Given the description of an element on the screen output the (x, y) to click on. 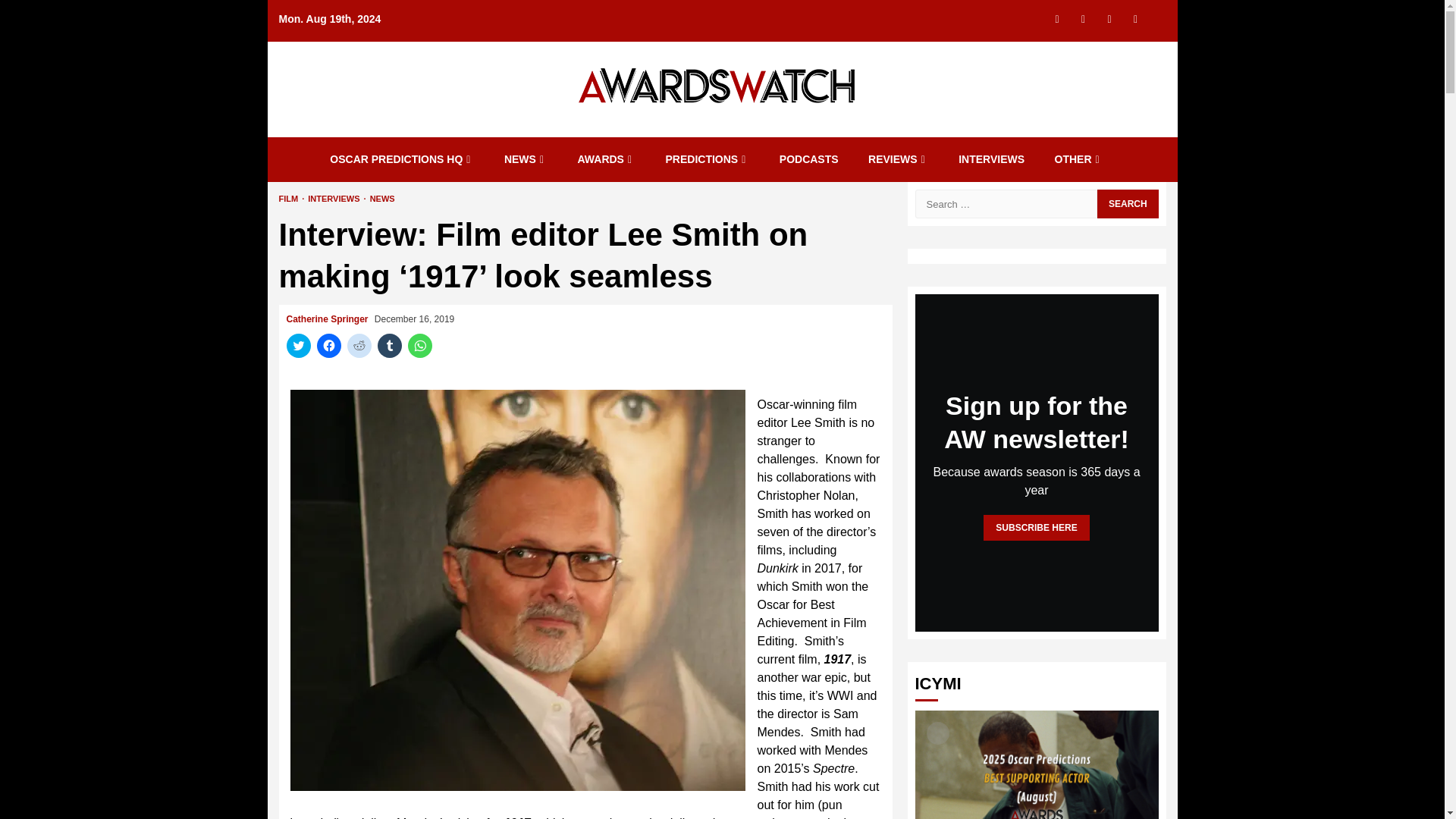
YouTube (1135, 18)
Click to share on Tumblr (389, 345)
Search (1126, 44)
Click to share on Reddit (359, 345)
AWARDS (607, 159)
Facebook (1109, 18)
REVIEWS (897, 159)
Click to share on Facebook (328, 345)
Search (1127, 203)
NEWS (525, 159)
